Given the description of an element on the screen output the (x, y) to click on. 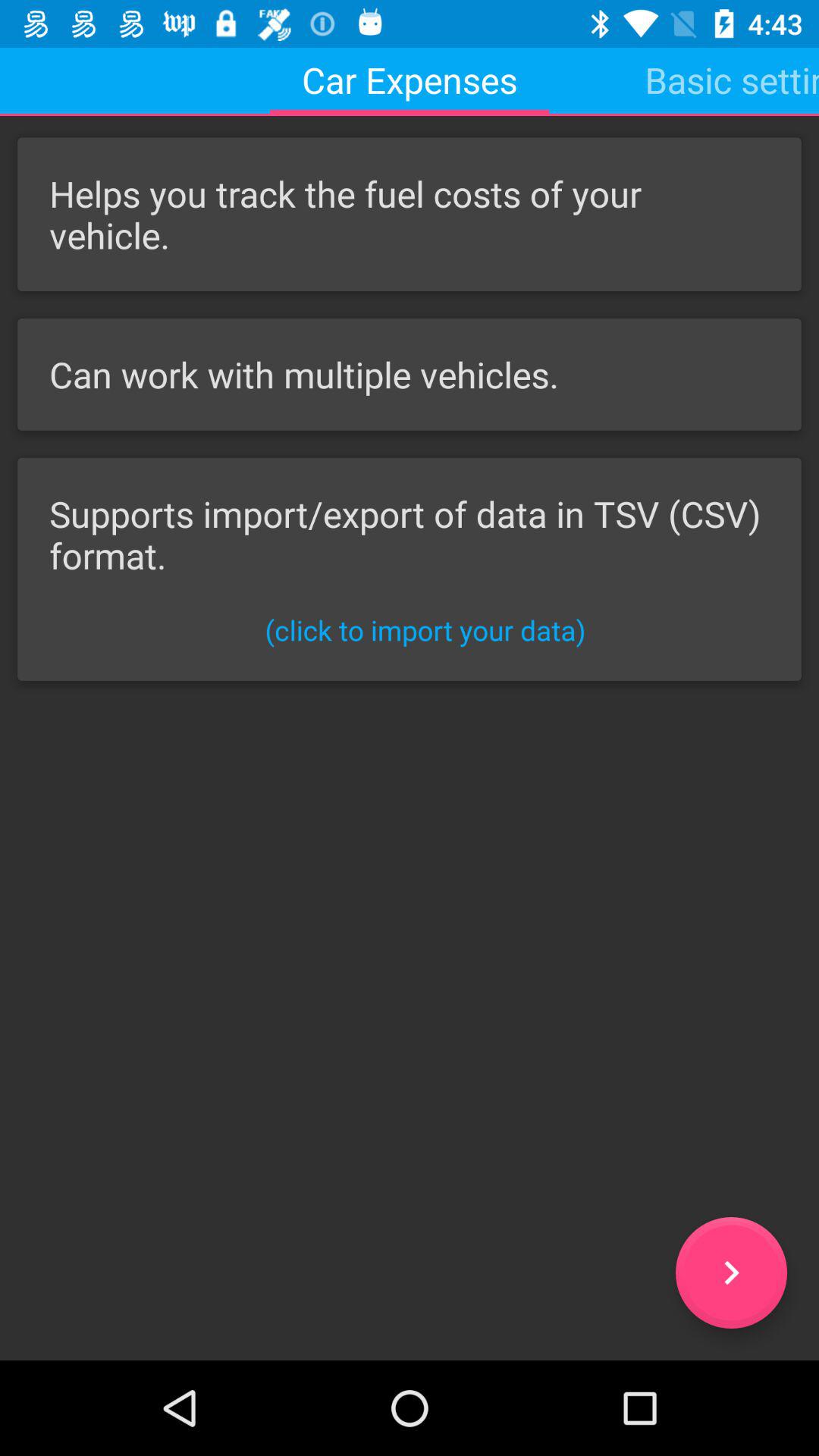
flip until basic settings (731, 79)
